Given the description of an element on the screen output the (x, y) to click on. 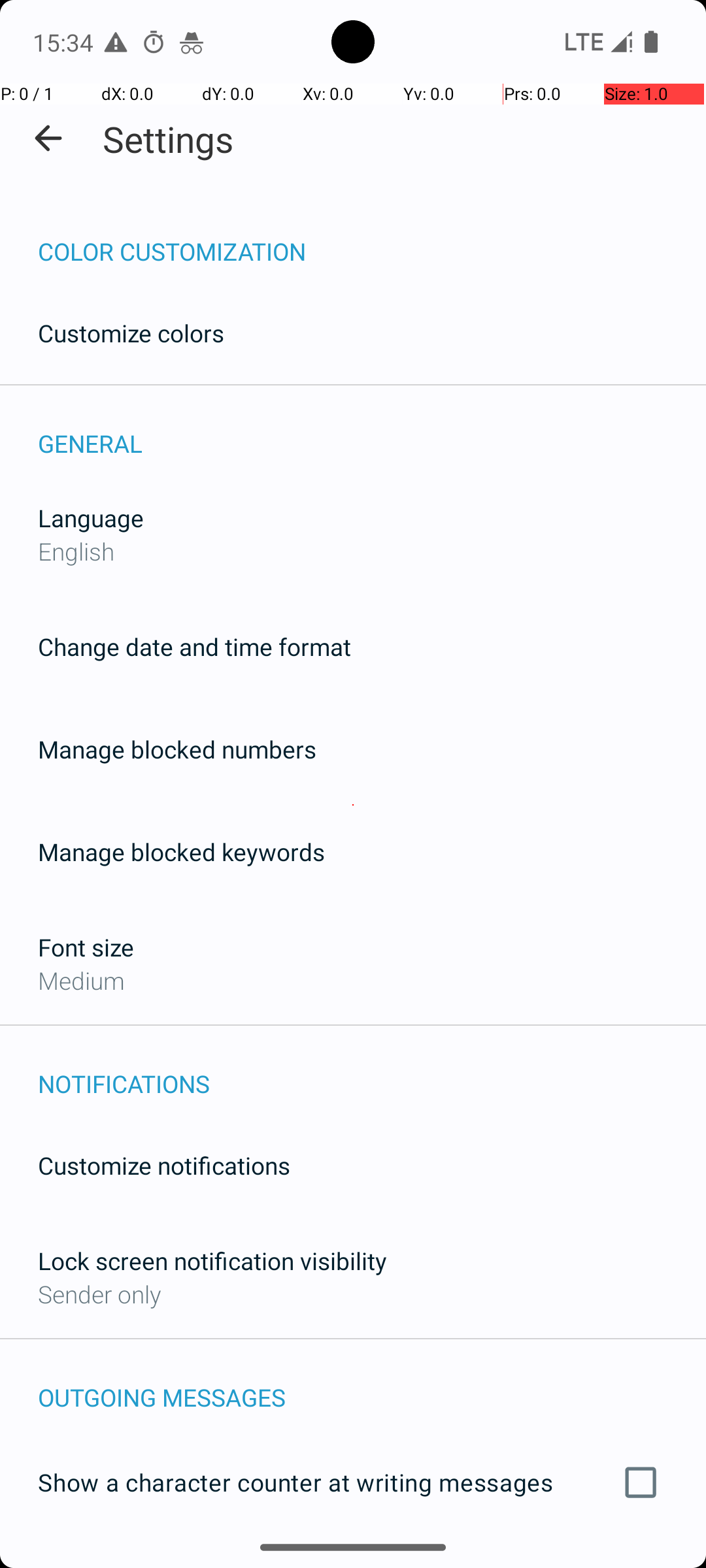
NOTIFICATIONS Element type: android.widget.TextView (371, 1069)
OUTGOING MESSAGES Element type: android.widget.TextView (371, 1383)
Change date and time format Element type: android.widget.TextView (194, 646)
Manage blocked numbers Element type: android.widget.TextView (176, 748)
Manage blocked keywords Element type: android.widget.TextView (180, 851)
Font size Element type: android.widget.TextView (85, 946)
Medium Element type: android.widget.TextView (80, 979)
Lock screen notification visibility Element type: android.widget.TextView (211, 1260)
Sender only Element type: android.widget.TextView (99, 1293)
Show a character counter at writing messages Element type: android.widget.CheckBox (352, 1482)
Remove accents and diacritics at sending messages Element type: android.widget.CheckBox (352, 1559)
